Given the description of an element on the screen output the (x, y) to click on. 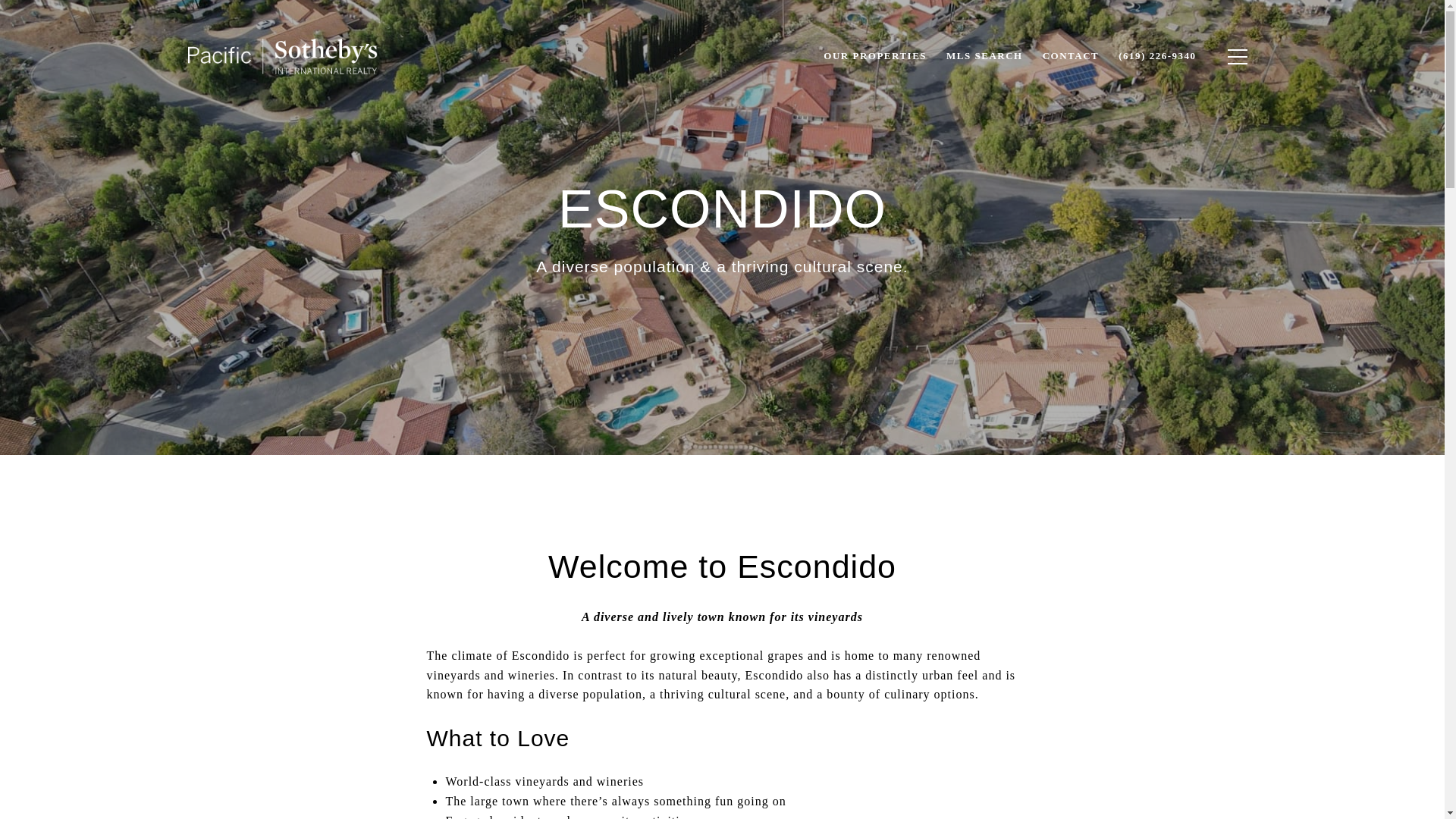
MLS SEARCH (984, 55)
CONTACT (1070, 55)
OUR PROPERTIES (874, 55)
